Given the description of an element on the screen output the (x, y) to click on. 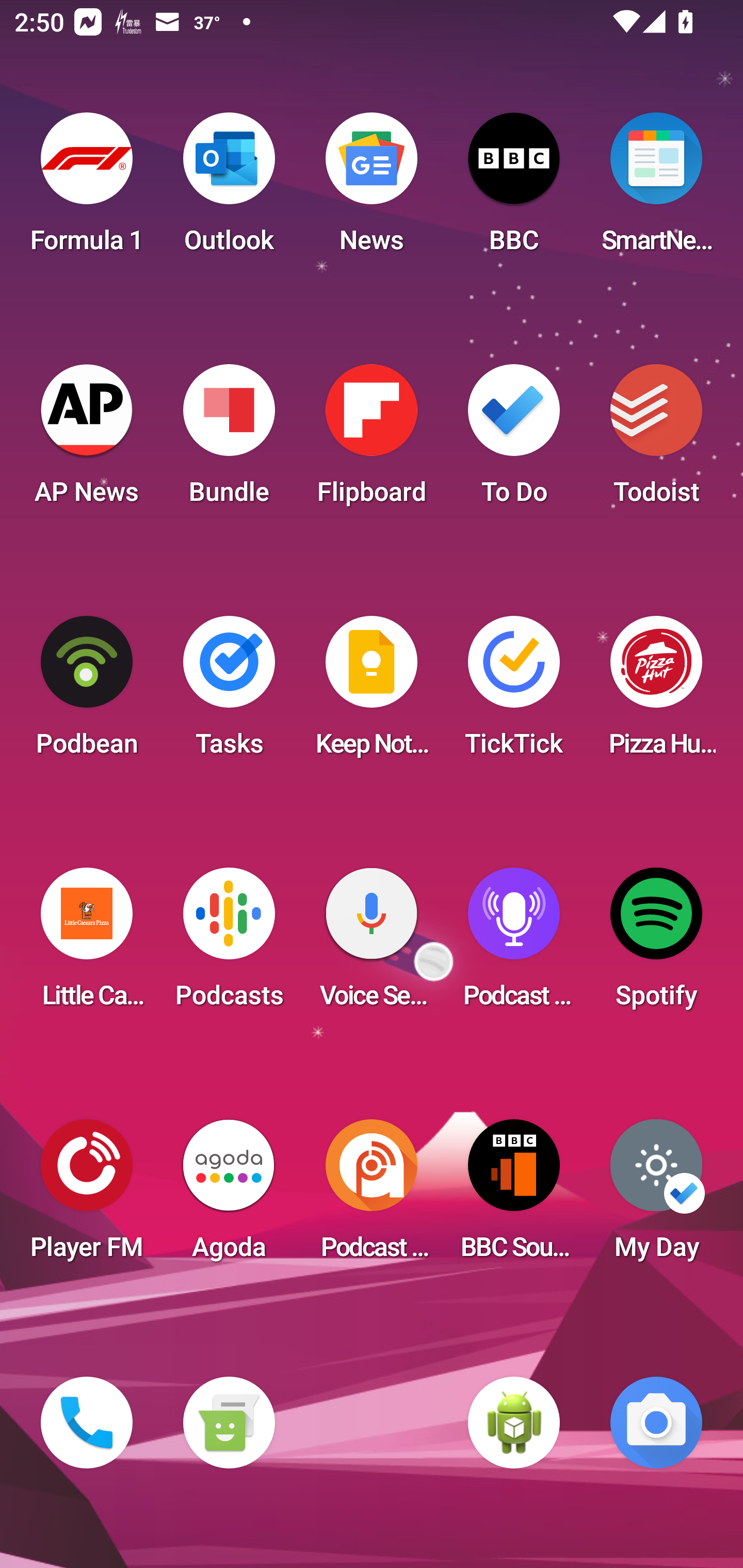
Formula 1 (86, 188)
Outlook (228, 188)
News (371, 188)
BBC (513, 188)
SmartNews (656, 188)
AP News (86, 440)
Bundle (228, 440)
Flipboard (371, 440)
To Do (513, 440)
Todoist (656, 440)
Podbean (86, 692)
Tasks (228, 692)
Keep Notes (371, 692)
TickTick (513, 692)
Pizza Hut HK & Macau (656, 692)
Little Caesars Pizza (86, 943)
Podcasts (228, 943)
Voice Search (371, 943)
Podcast Player (513, 943)
Spotify (656, 943)
Player FM (86, 1195)
Agoda (228, 1195)
Podcast Addict (371, 1195)
BBC Sounds (513, 1195)
My Day (656, 1195)
Phone (86, 1422)
Messaging (228, 1422)
WebView Browser Tester (513, 1422)
Camera (656, 1422)
